Given the description of an element on the screen output the (x, y) to click on. 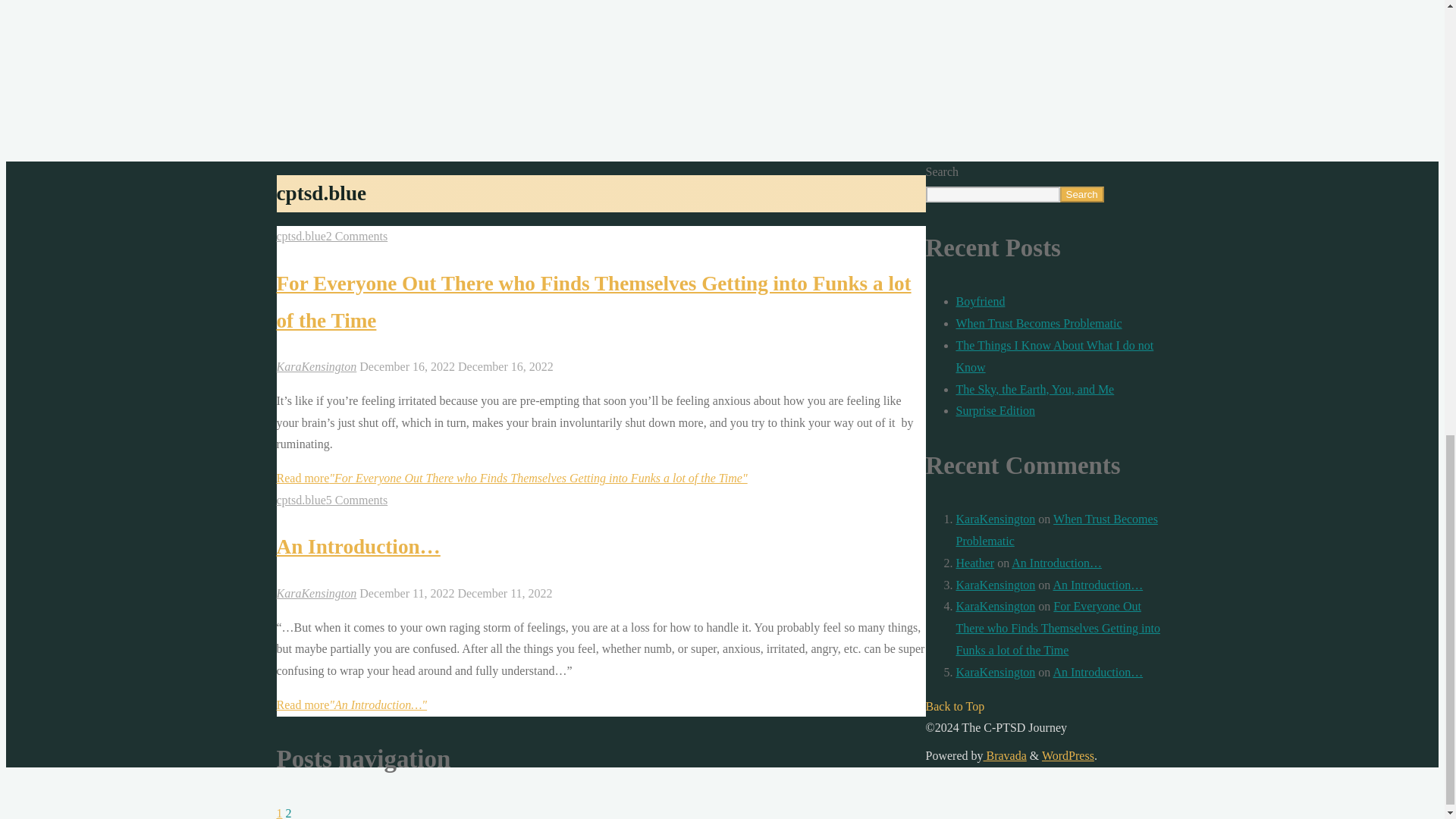
KaraKensington (995, 518)
When Trust Becomes Problematic (1056, 529)
Surprise Edition (994, 410)
cptsd.blue (300, 499)
KaraKensington (995, 584)
When Trust Becomes Problematic (1038, 323)
Boyfriend (979, 300)
View all posts by KaraKensington (316, 593)
5 Comments (356, 499)
KaraKensington (995, 671)
The Things I Know About What I do not Know (1054, 356)
KaraKensington (995, 605)
